Given the description of an element on the screen output the (x, y) to click on. 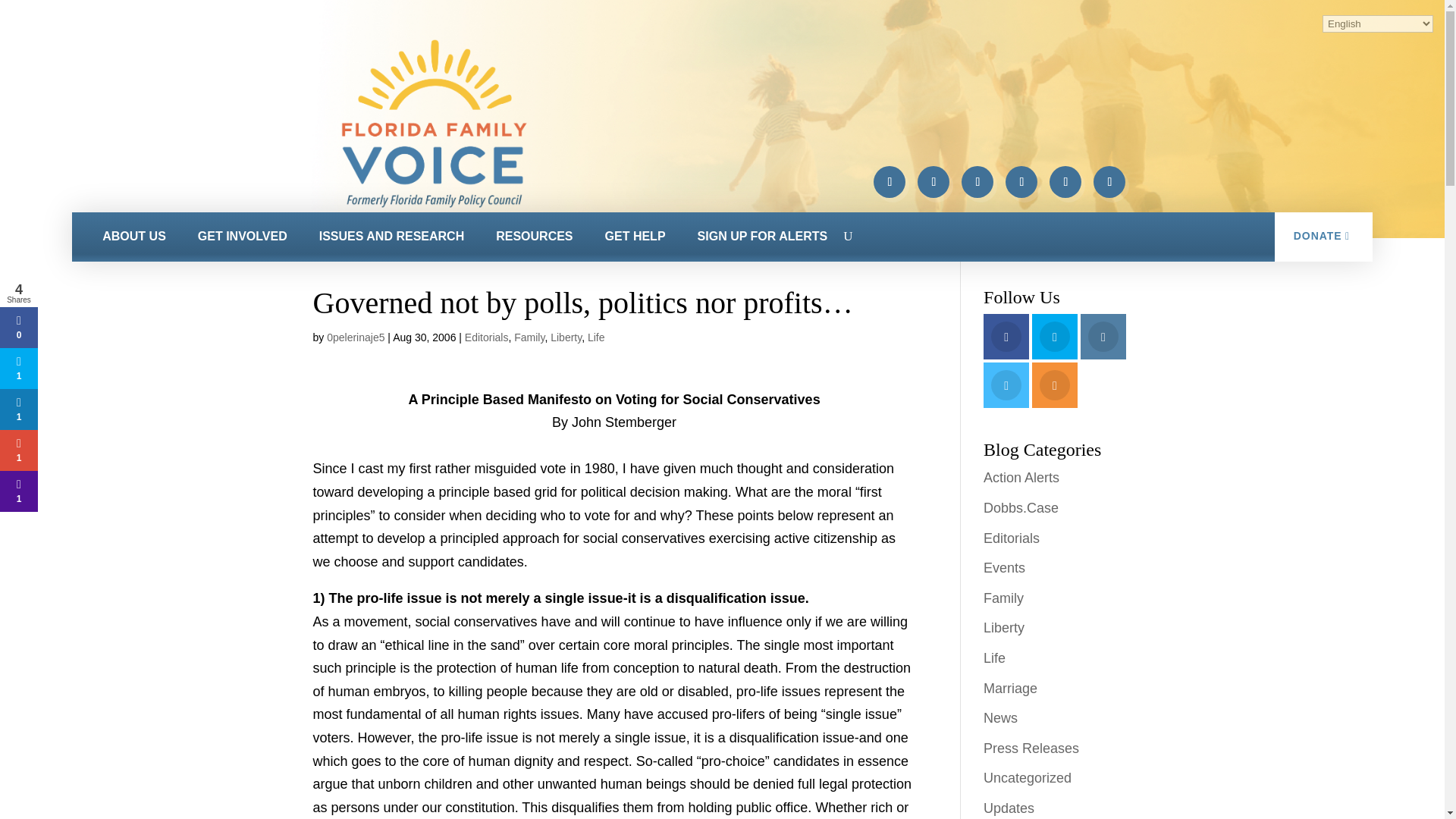
GET HELP (634, 236)
Follow on Instagram (976, 182)
Follow on X (933, 182)
RESOURCES (533, 236)
FFV-Logo-Transition (434, 123)
ABOUT US (133, 236)
ISSUES AND RESEARCH (391, 236)
GET INVOLVED (242, 236)
Follow on Vimeo (1021, 182)
Follow on Facebook (889, 182)
Follow on RSS (1109, 182)
Follow on Youtube (1065, 182)
